Given the description of an element on the screen output the (x, y) to click on. 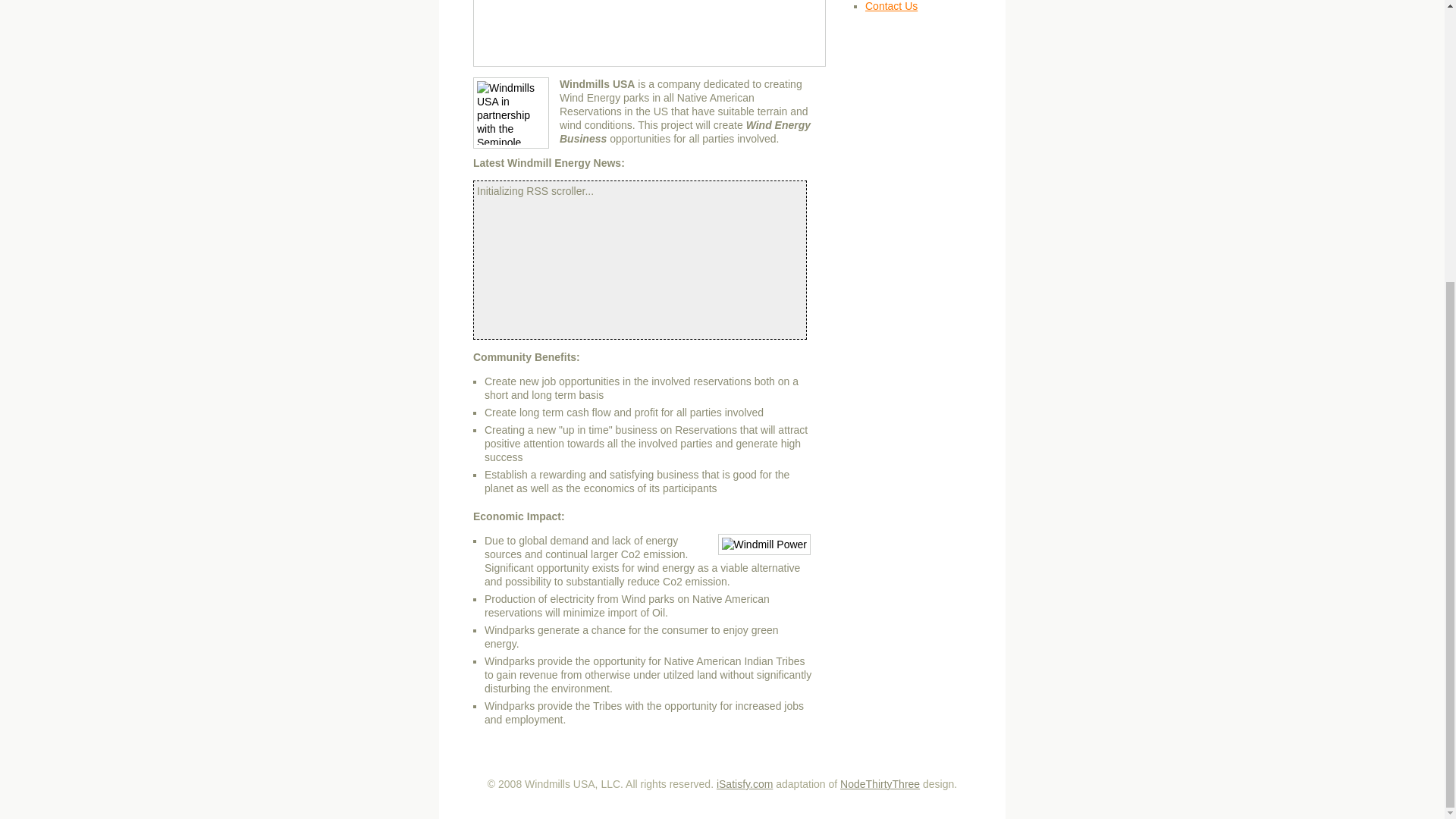
Contact Us (890, 6)
iSatisfy.com (744, 784)
NodeThirtyThree (880, 784)
